Given the description of an element on the screen output the (x, y) to click on. 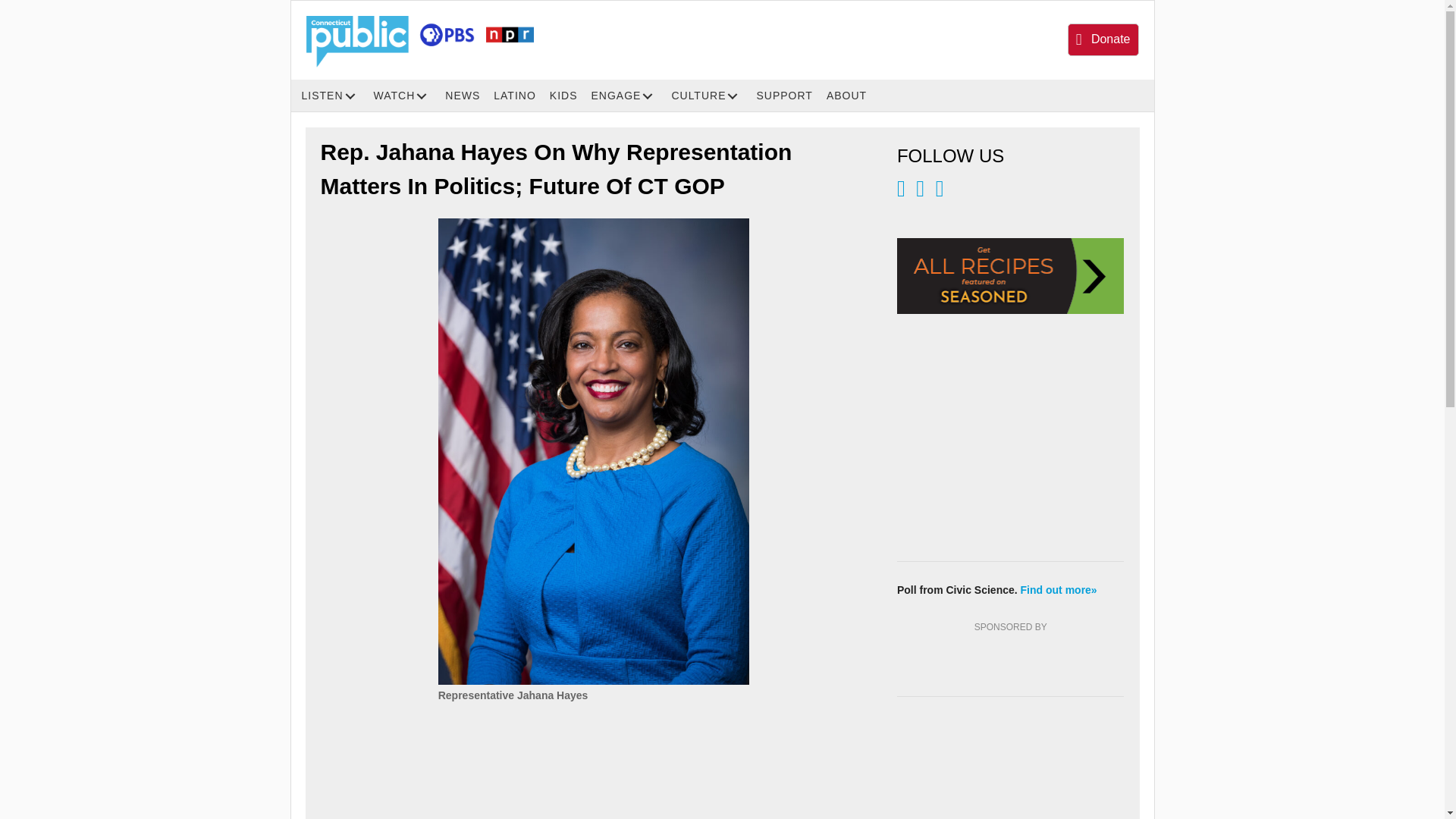
ENGAGE (627, 95)
ALL-RECIPES (1010, 275)
CULTURE (709, 95)
Donate (1102, 39)
NEWS (465, 95)
LISTEN (333, 95)
ctpublic-grove-lockup (419, 41)
WATCH (406, 95)
ABOUT (849, 95)
LATINO (517, 95)
SUPPORT (786, 95)
KIDS (566, 95)
